Given the description of an element on the screen output the (x, y) to click on. 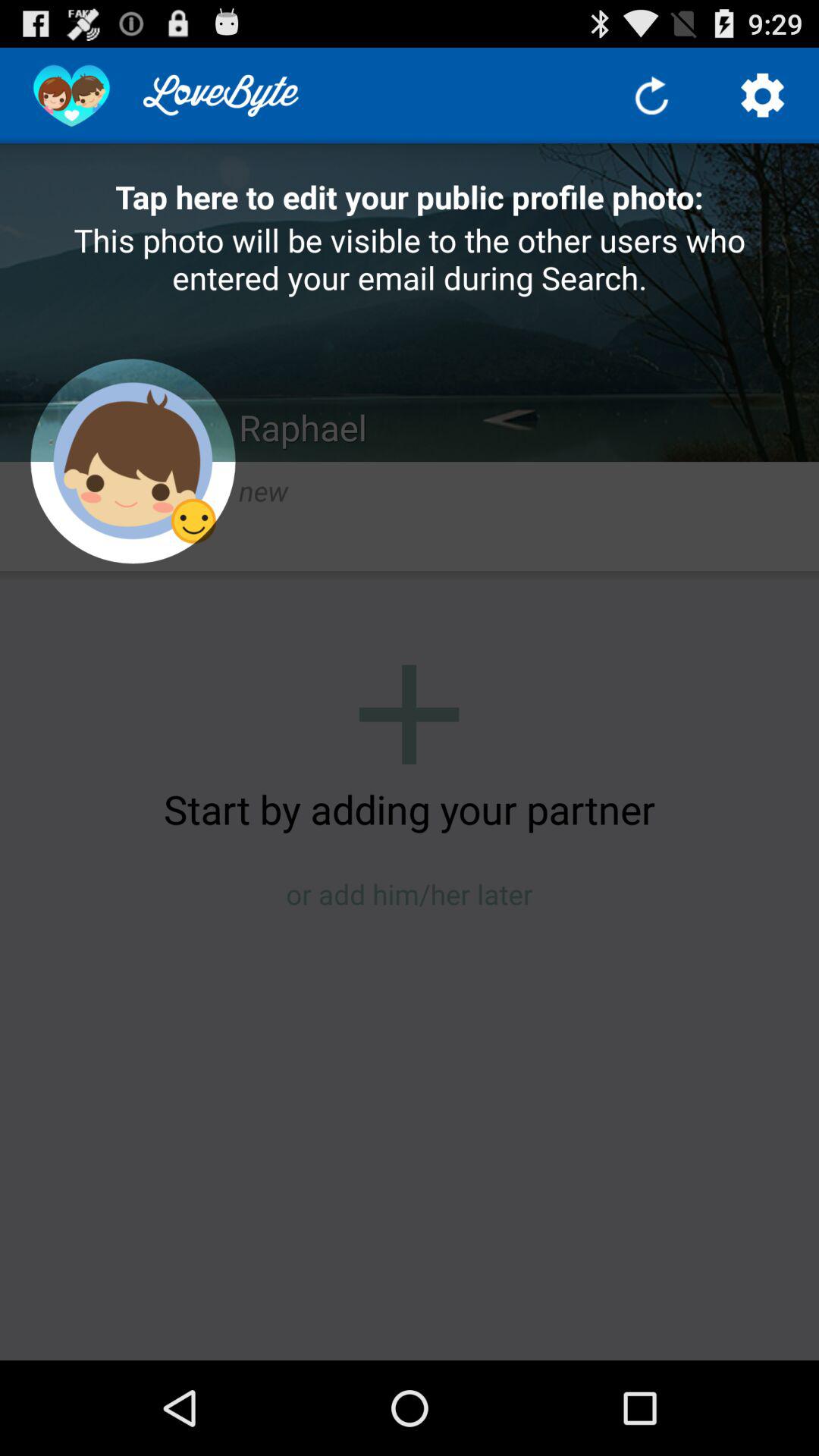
swipe until the or add him app (409, 893)
